Given the description of an element on the screen output the (x, y) to click on. 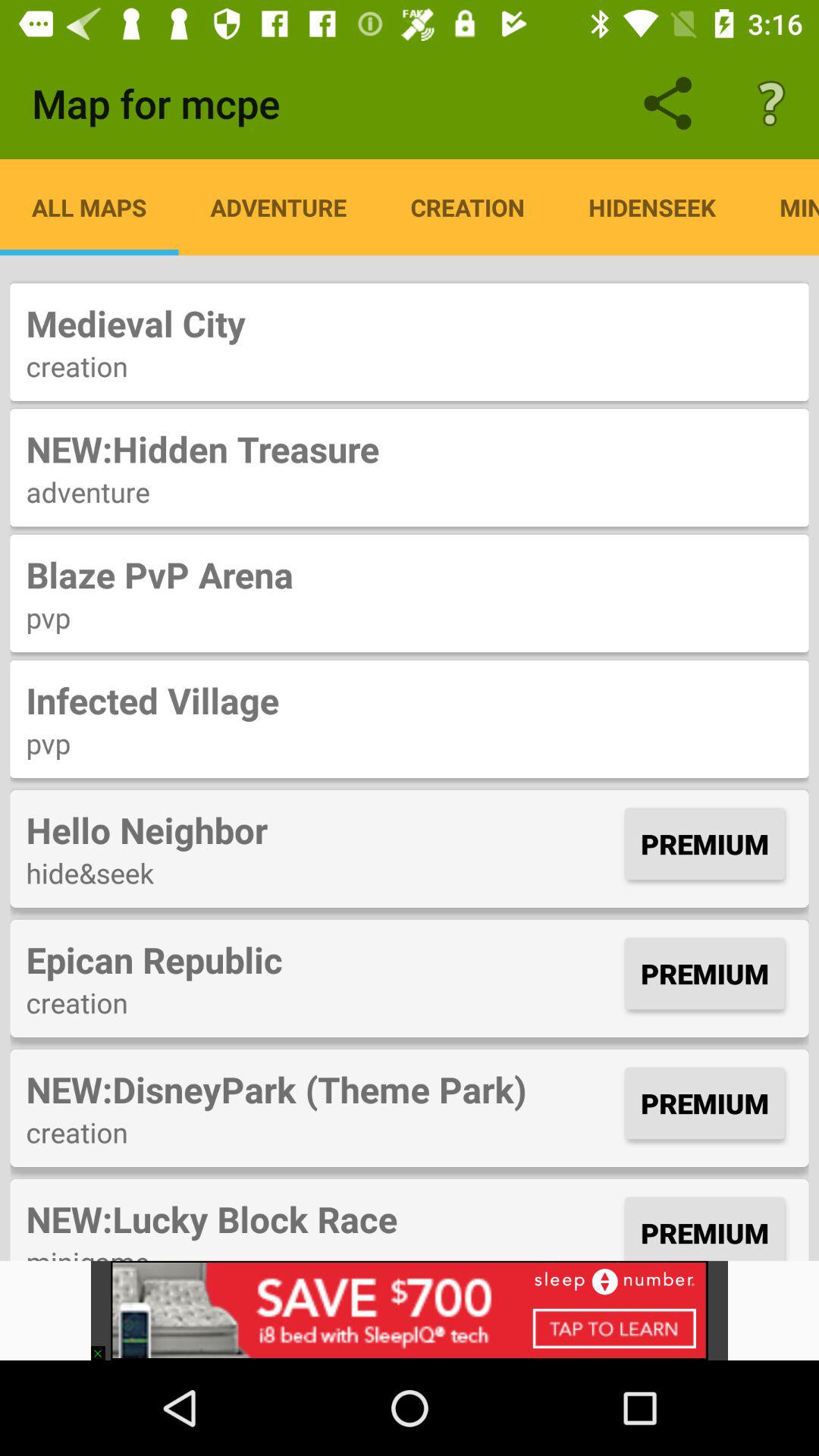
choose the icon to the left of premium item (321, 829)
